Given the description of an element on the screen output the (x, y) to click on. 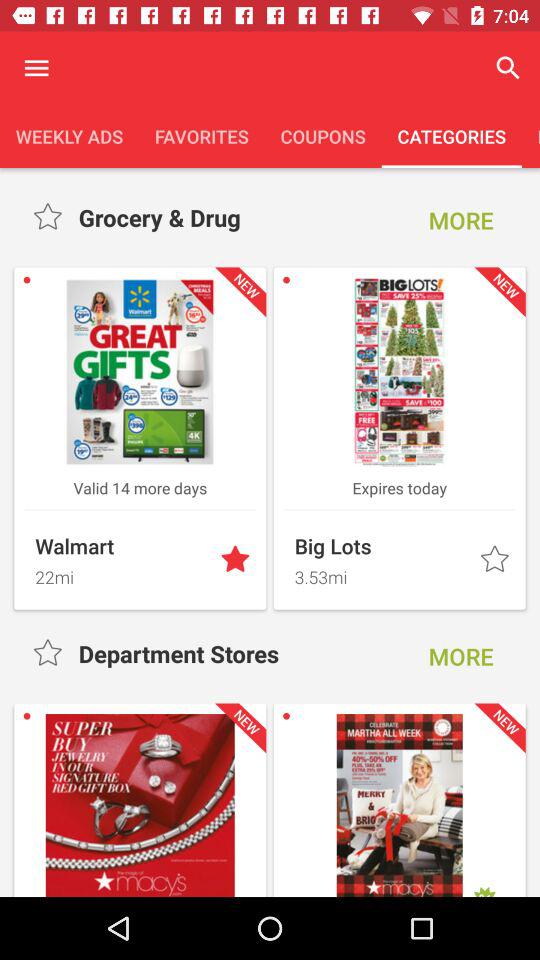
change rating of item (49, 217)
